Given the description of an element on the screen output the (x, y) to click on. 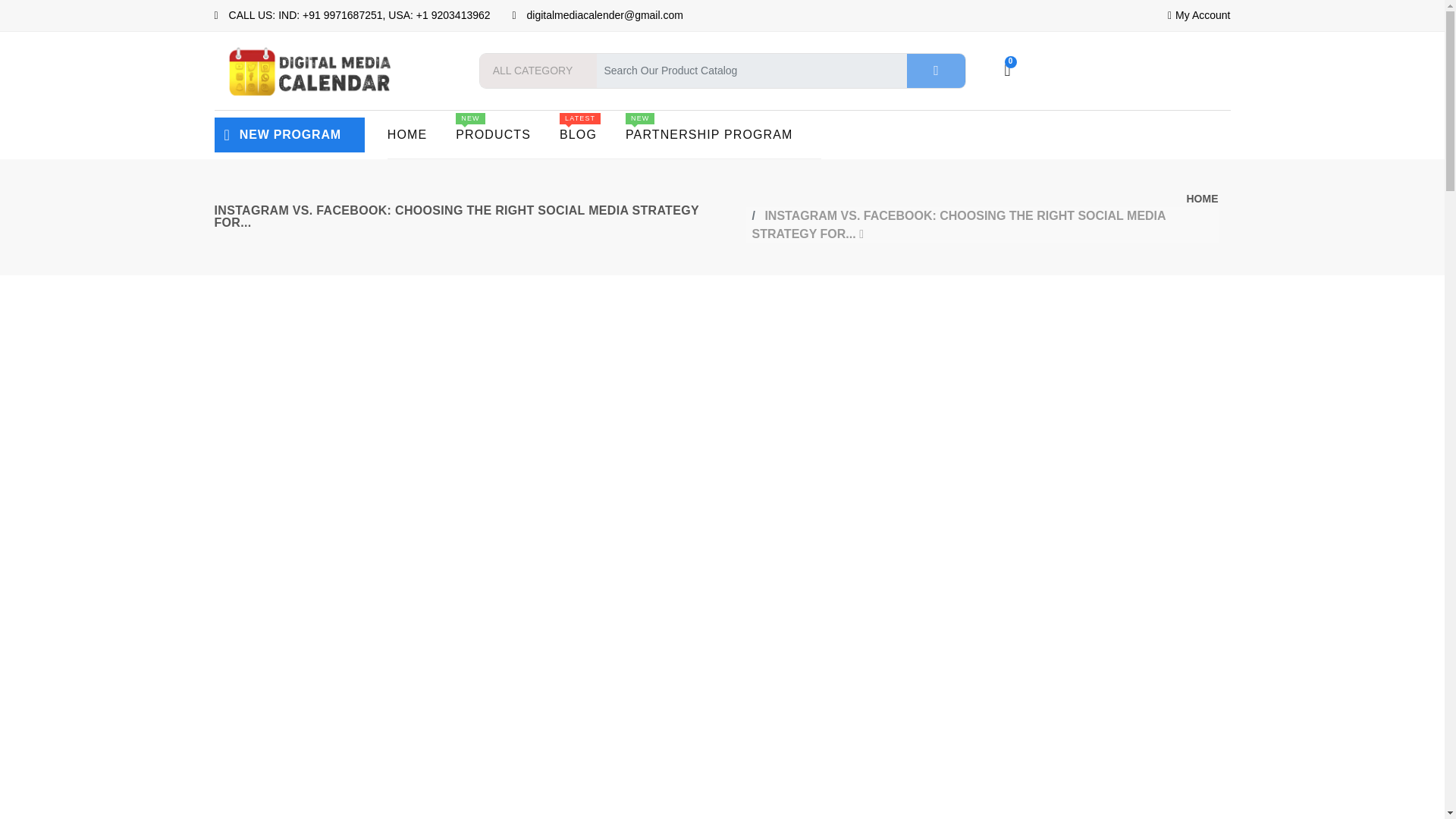
HOME (592, 134)
HOME (421, 134)
